Given the description of an element on the screen output the (x, y) to click on. 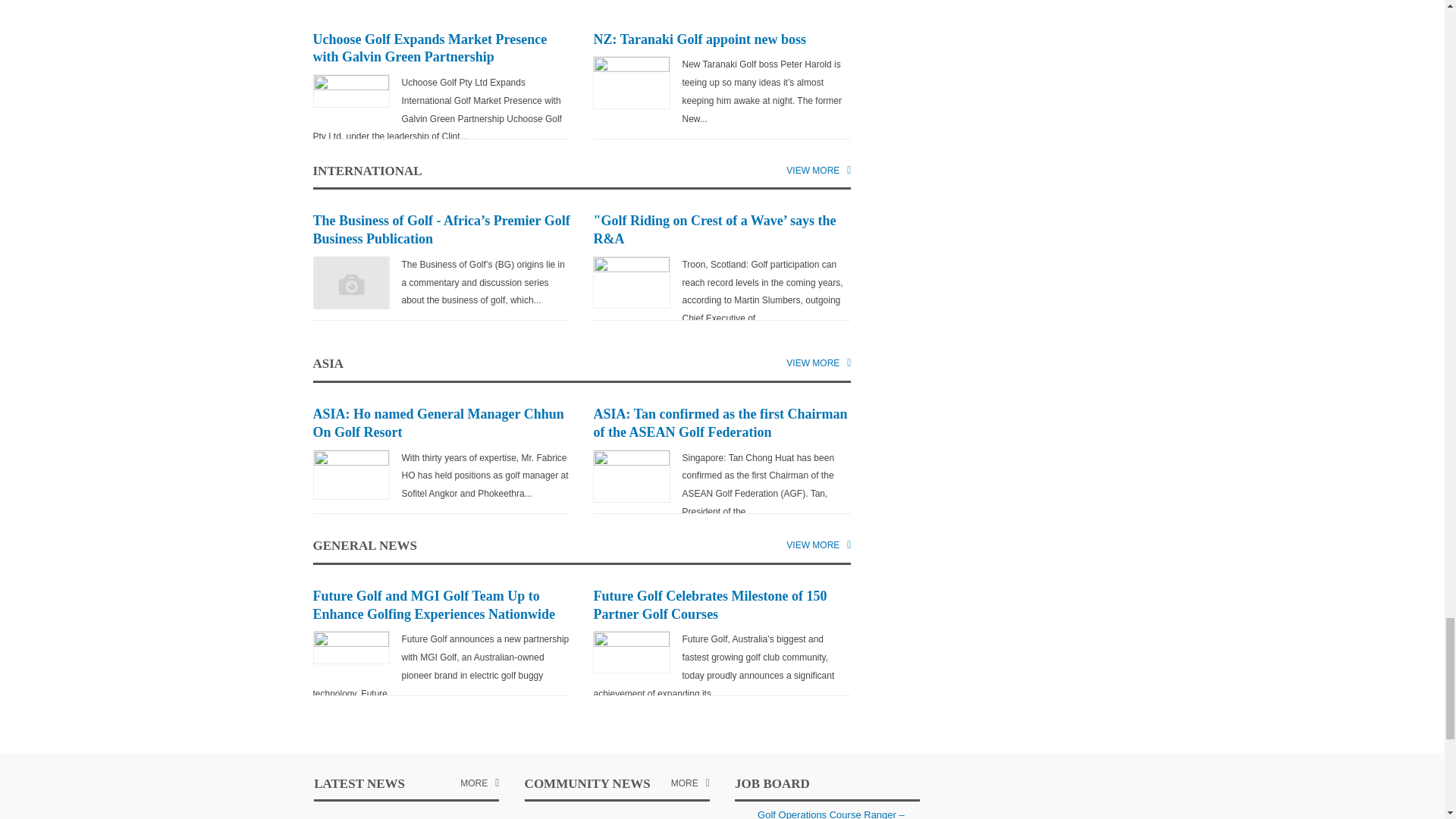
ASIA: Ho named General Manager Chhun On Golf Resort (438, 422)
NZ: Taranaki Golf appoint new boss (699, 38)
Future Golf Celebrates Milestone of 150 Partner Golf Courses (709, 604)
